Given the description of an element on the screen output the (x, y) to click on. 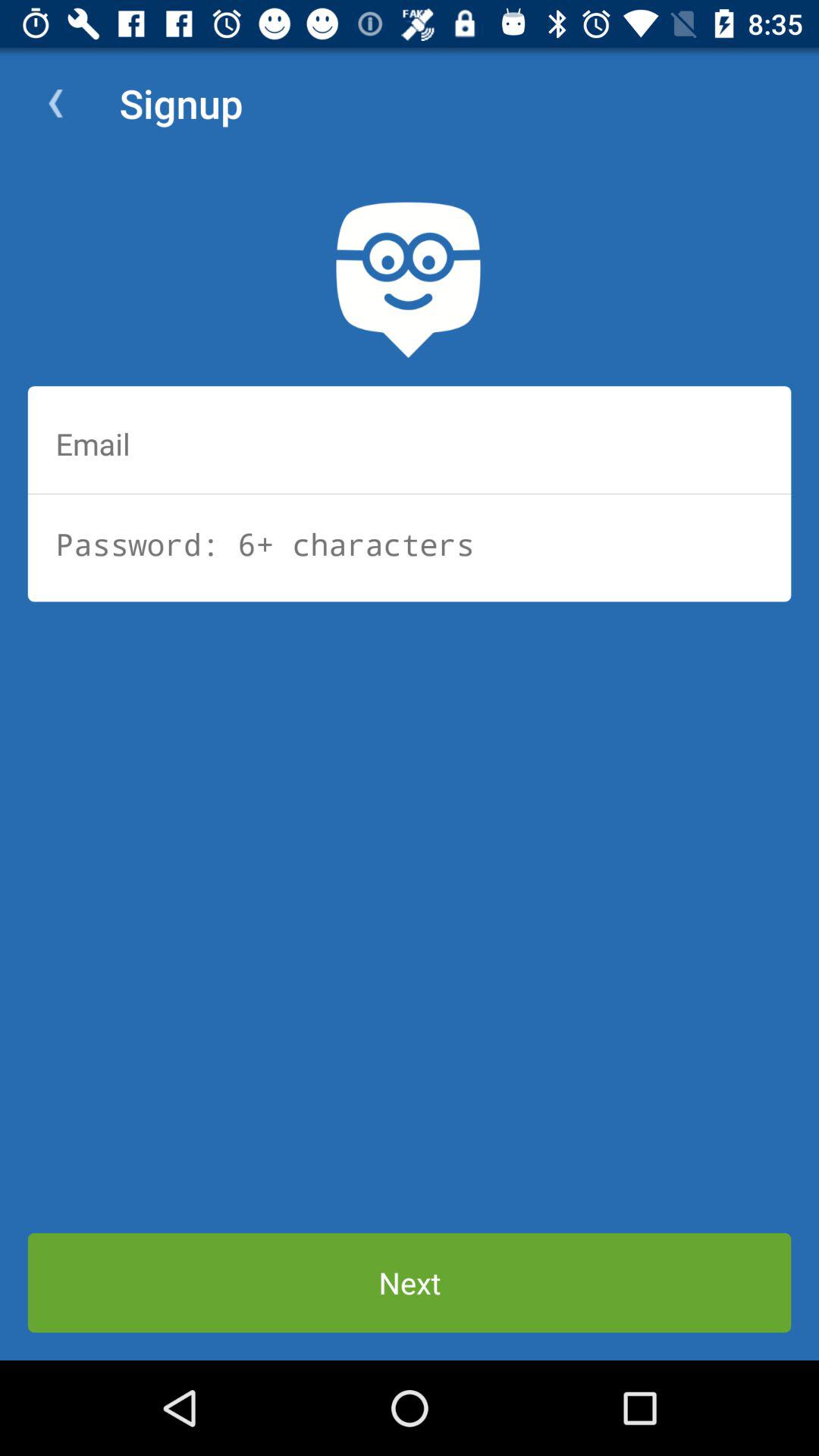
email field (409, 443)
